Given the description of an element on the screen output the (x, y) to click on. 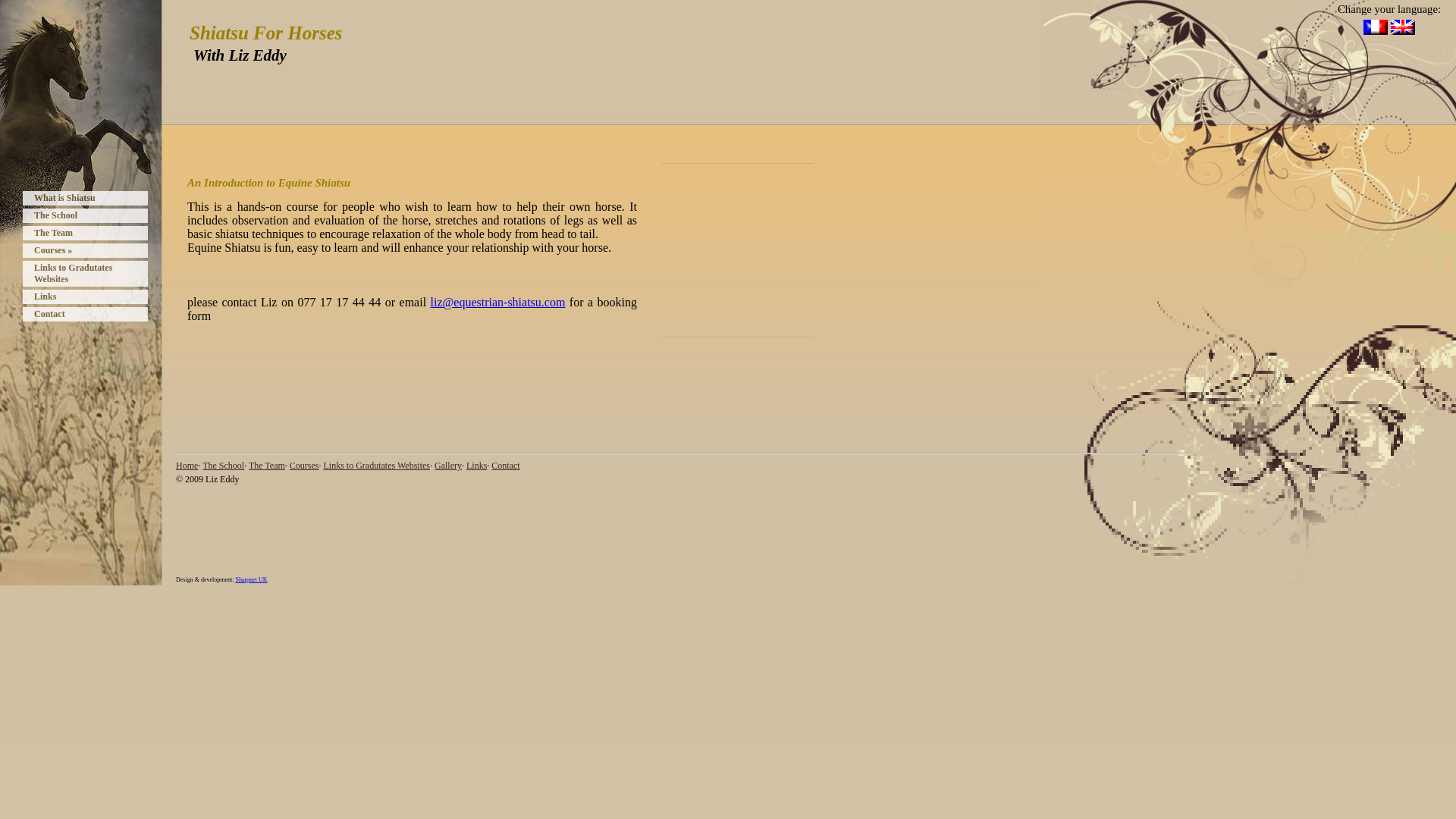
Courses (303, 465)
Contact (505, 465)
Insert new item (787, 162)
Links to Gradutates Websites (85, 273)
What is Shiatsu (85, 197)
Links (85, 296)
Add new item (787, 336)
Home (187, 465)
Contact (85, 314)
Sharpnet UK (250, 579)
Links (475, 465)
Edit above item (686, 336)
The School (223, 465)
The Team (85, 233)
The School (85, 215)
